Given the description of an element on the screen output the (x, y) to click on. 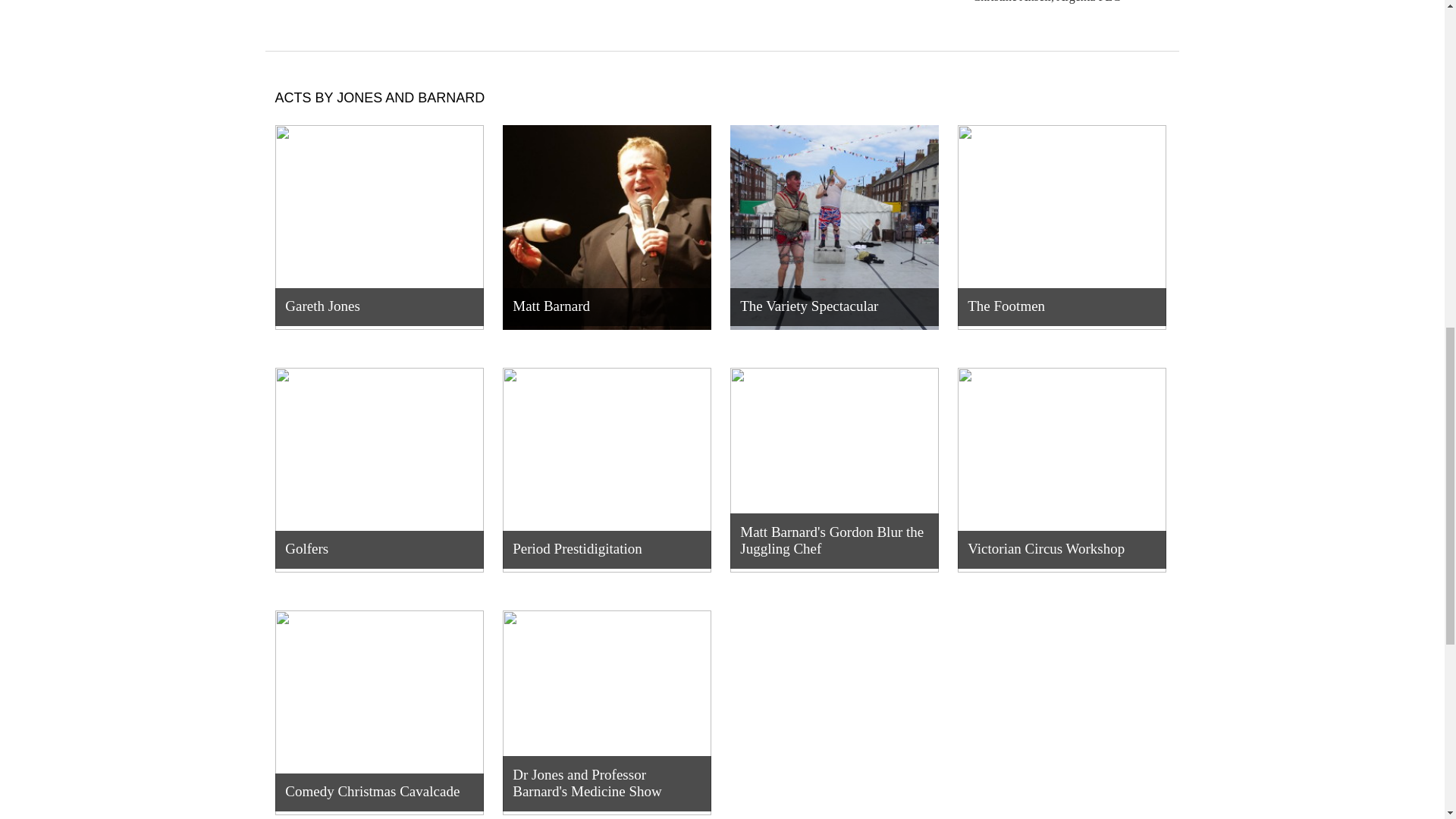
The Footmen (1061, 234)
The Variety Spectacular (833, 227)
Period Prestidigitation (606, 469)
Matt Barnard (606, 234)
Golfers (379, 469)
Matt Barnard (606, 227)
Dr Jones and Professor Barnard's Medicine Show (606, 714)
Victorian Circus Workshop (1061, 469)
Matt Barnard's Gordon Blur the Juggling Chef (833, 469)
Comedy Christmas Cavalcade (379, 712)
